Given the description of an element on the screen output the (x, y) to click on. 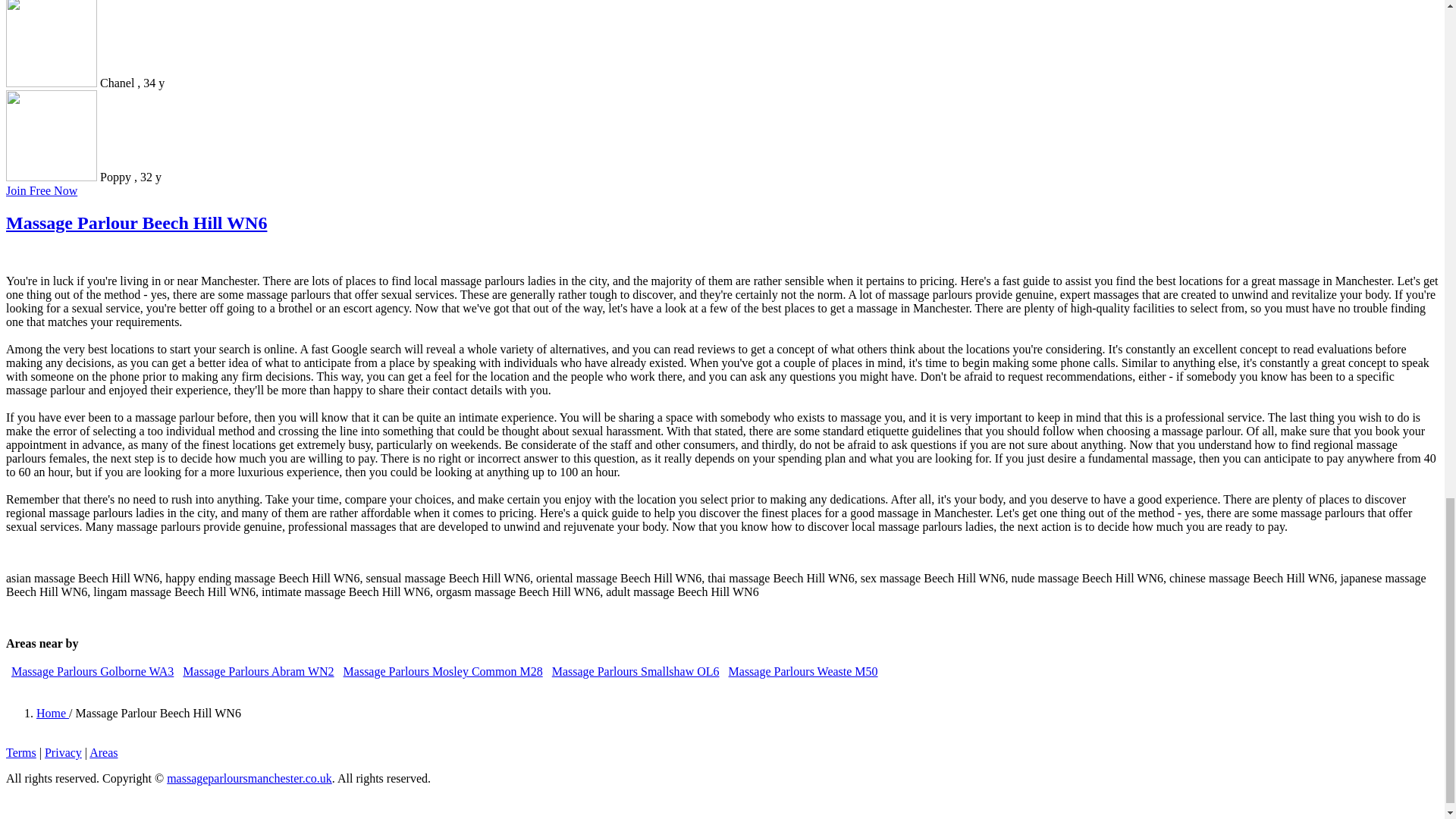
Massage Parlours Golborne WA3 (92, 671)
Terms (20, 752)
Join Free Now (41, 190)
Areas (102, 752)
Terms (20, 752)
Massage Parlours Abram WN2 (258, 671)
Join (41, 190)
Home (52, 712)
massageparloursmanchester.co.uk (249, 778)
Areas (102, 752)
Massage Parlour Beech Hill WN6 (135, 222)
Massage Parlours Mosley Common M28 (443, 671)
Privacy (63, 752)
Massage Parlours Smallshaw OL6 (635, 671)
massageparloursmanchester.co.uk (249, 778)
